Given the description of an element on the screen output the (x, y) to click on. 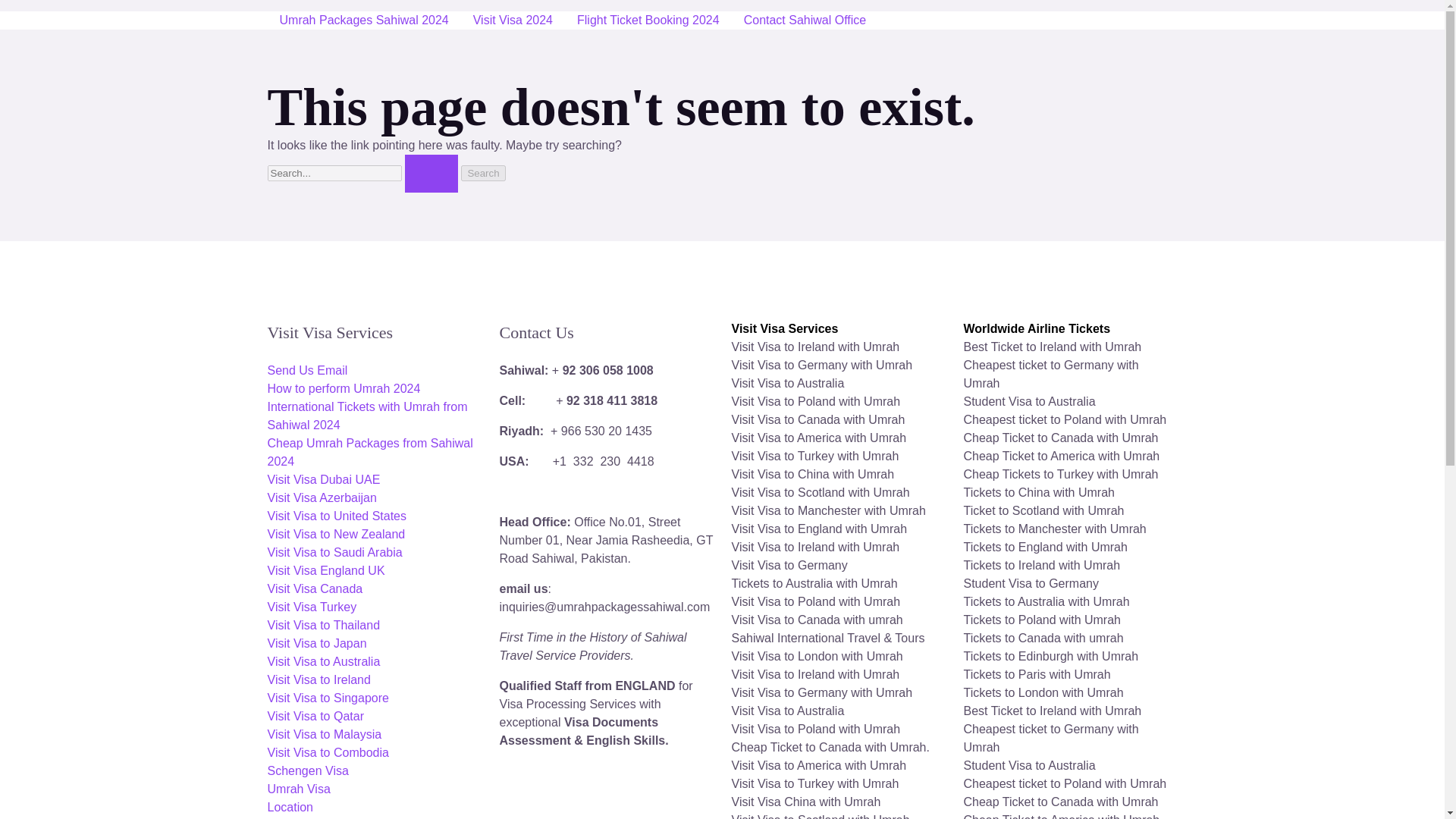
Visit Visa to Qatar (314, 716)
Visit Visa Dubai UAE (323, 479)
Visit Visa Canada (314, 588)
How to perform Umrah 2024 (343, 388)
Visit Visa to Thailand (323, 625)
Visit Visa to Combodia (327, 752)
Visit Visa to Australia (323, 661)
Visit Visa to Ireland (317, 679)
Visit Visa to New Zealand (335, 533)
Umrah Packages Sahiwal 2024 (363, 20)
